Given the description of an element on the screen output the (x, y) to click on. 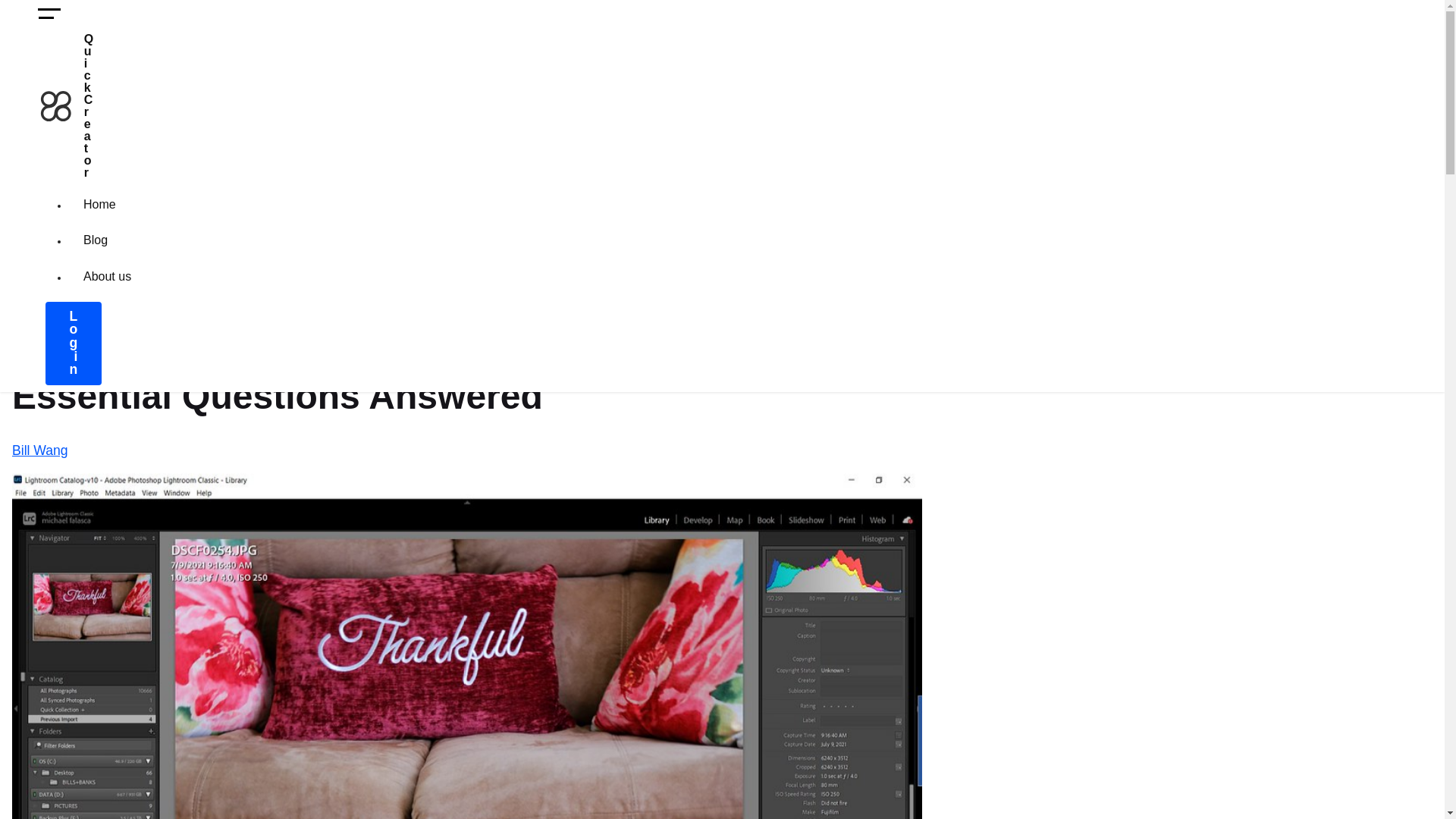
Blog (94, 240)
Home (99, 204)
Bill Wang (39, 450)
About us (106, 276)
